Given the description of an element on the screen output the (x, y) to click on. 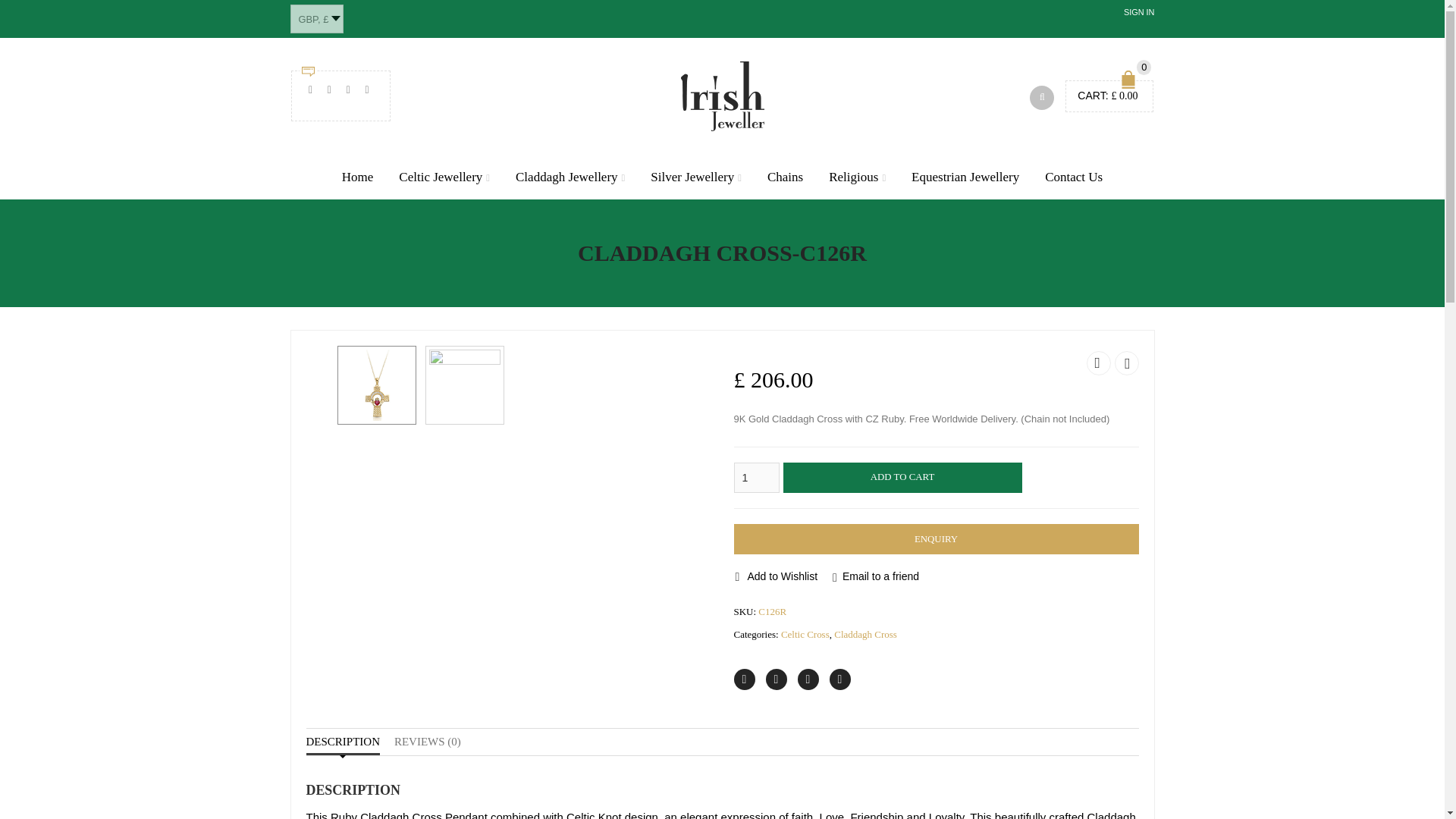
Twitter (744, 679)
Twitter (310, 89)
Pinterest (347, 89)
Facebook (328, 89)
1 (755, 477)
Enquiry (935, 539)
Mail to friend (366, 89)
